Given the description of an element on the screen output the (x, y) to click on. 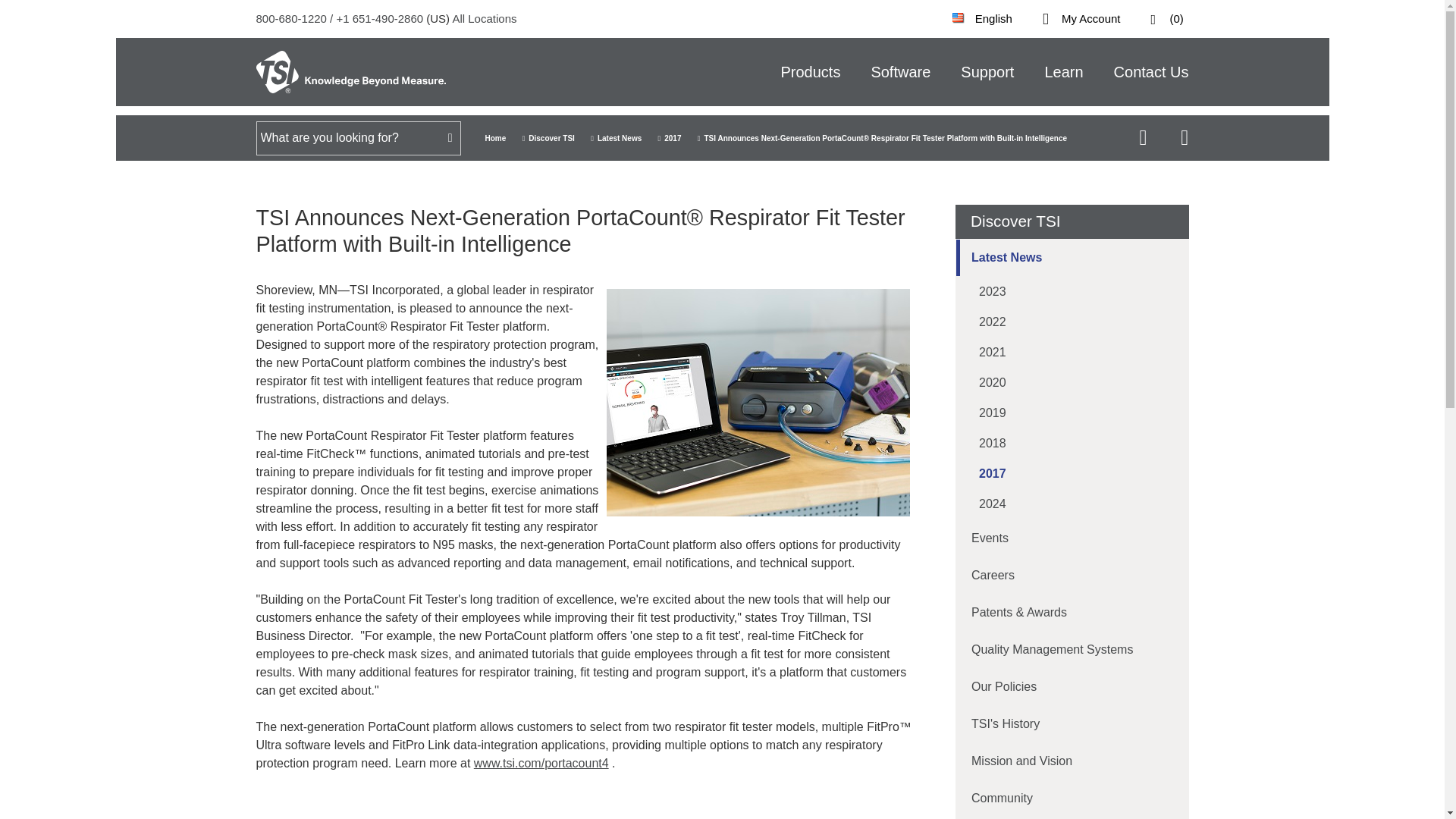
2024 (1072, 503)
2019 (1072, 413)
Quality Management Systems (1072, 649)
2023 (1072, 291)
2022 (1072, 322)
Events (1072, 538)
2021 (1072, 352)
2018 (1072, 443)
Latest News (1072, 257)
2020 (1072, 382)
